Given the description of an element on the screen output the (x, y) to click on. 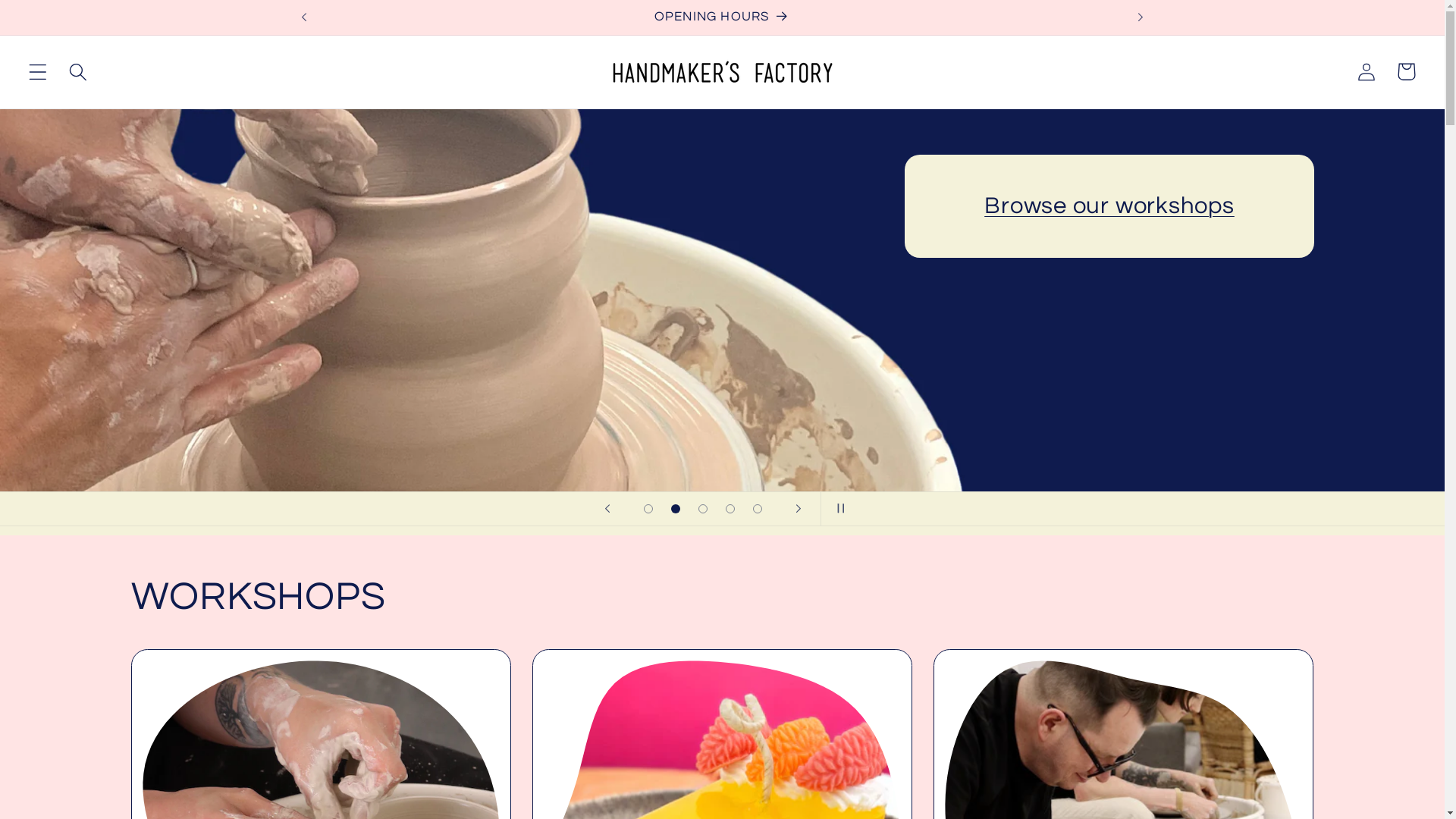
Browse our workshops Element type: text (1109, 205)
Cart Element type: text (1406, 71)
Log in Element type: text (1366, 71)
OPENING HOURS Element type: text (722, 17)
